Given the description of an element on the screen output the (x, y) to click on. 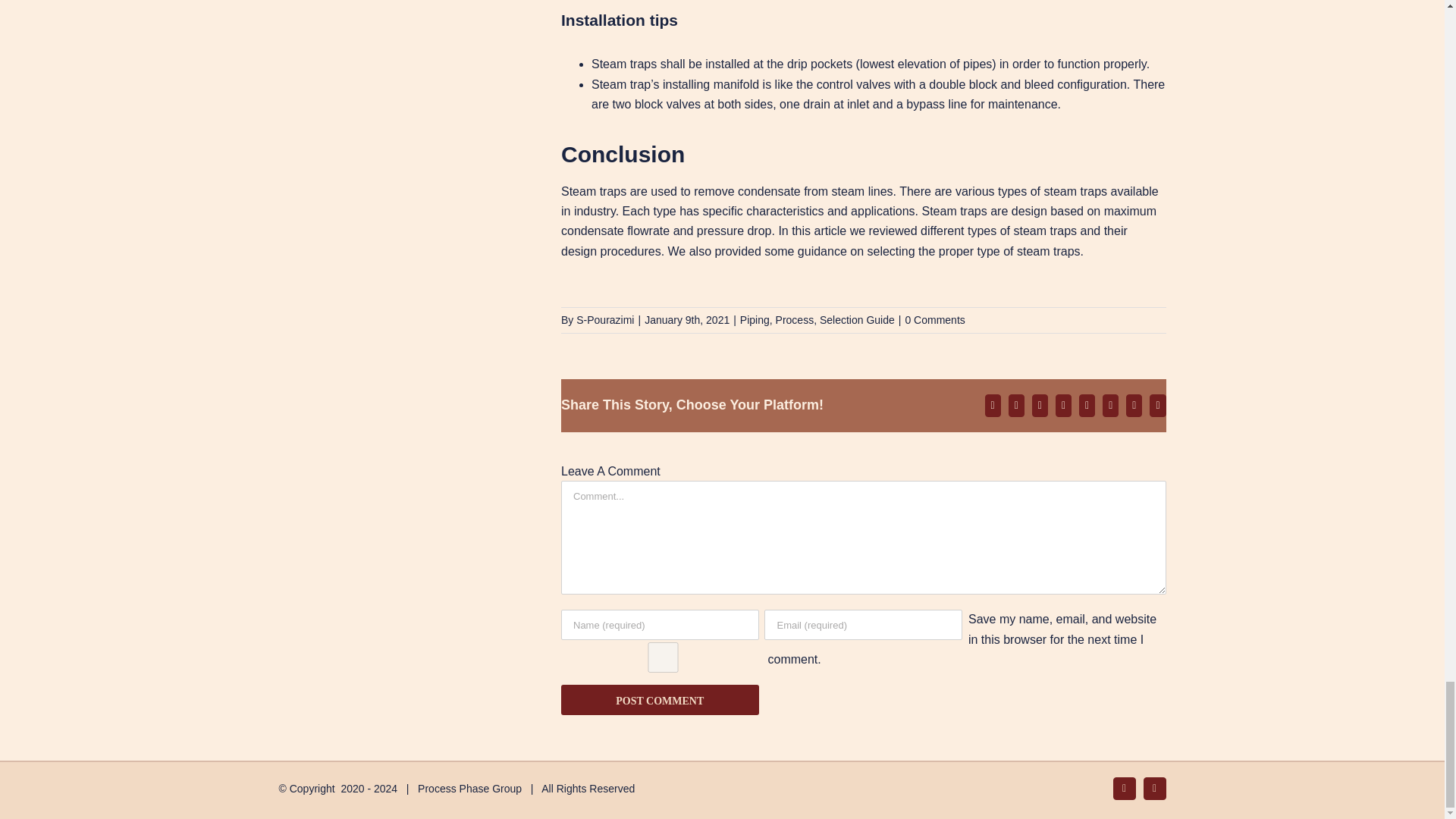
Piping (754, 319)
Process (794, 319)
Post Comment (659, 699)
Posts by S-Pourazimi (604, 319)
S-Pourazimi (604, 319)
Selection Guide (857, 319)
yes (662, 657)
0 Comments (933, 319)
Post Comment (659, 699)
